Given the description of an element on the screen output the (x, y) to click on. 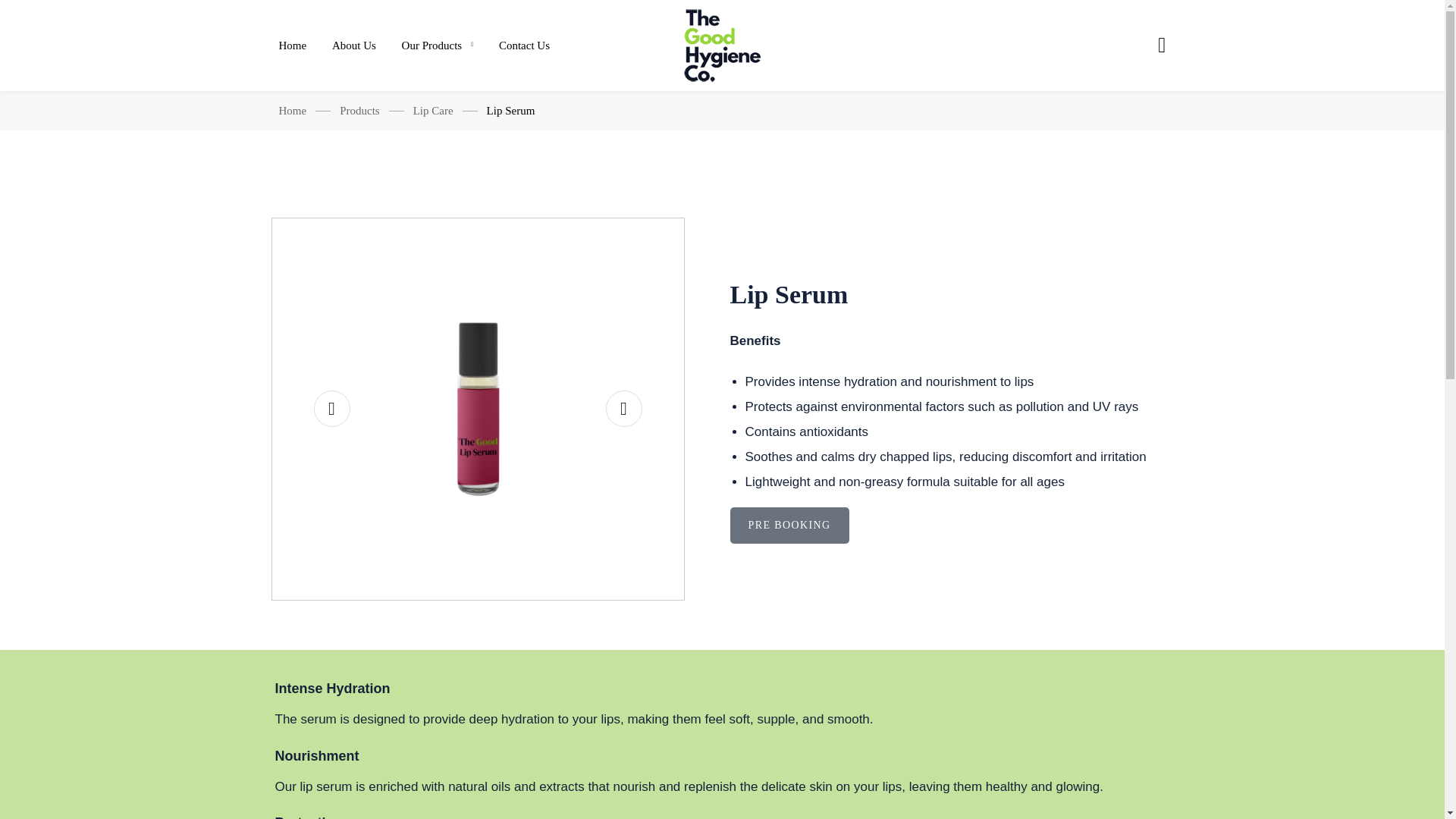
PRE BOOKING (908, 524)
Lip Care (432, 110)
Products (359, 110)
Home (293, 110)
Home (298, 45)
Contact Us (518, 45)
About Us (353, 45)
Our Products (437, 45)
